Given the description of an element on the screen output the (x, y) to click on. 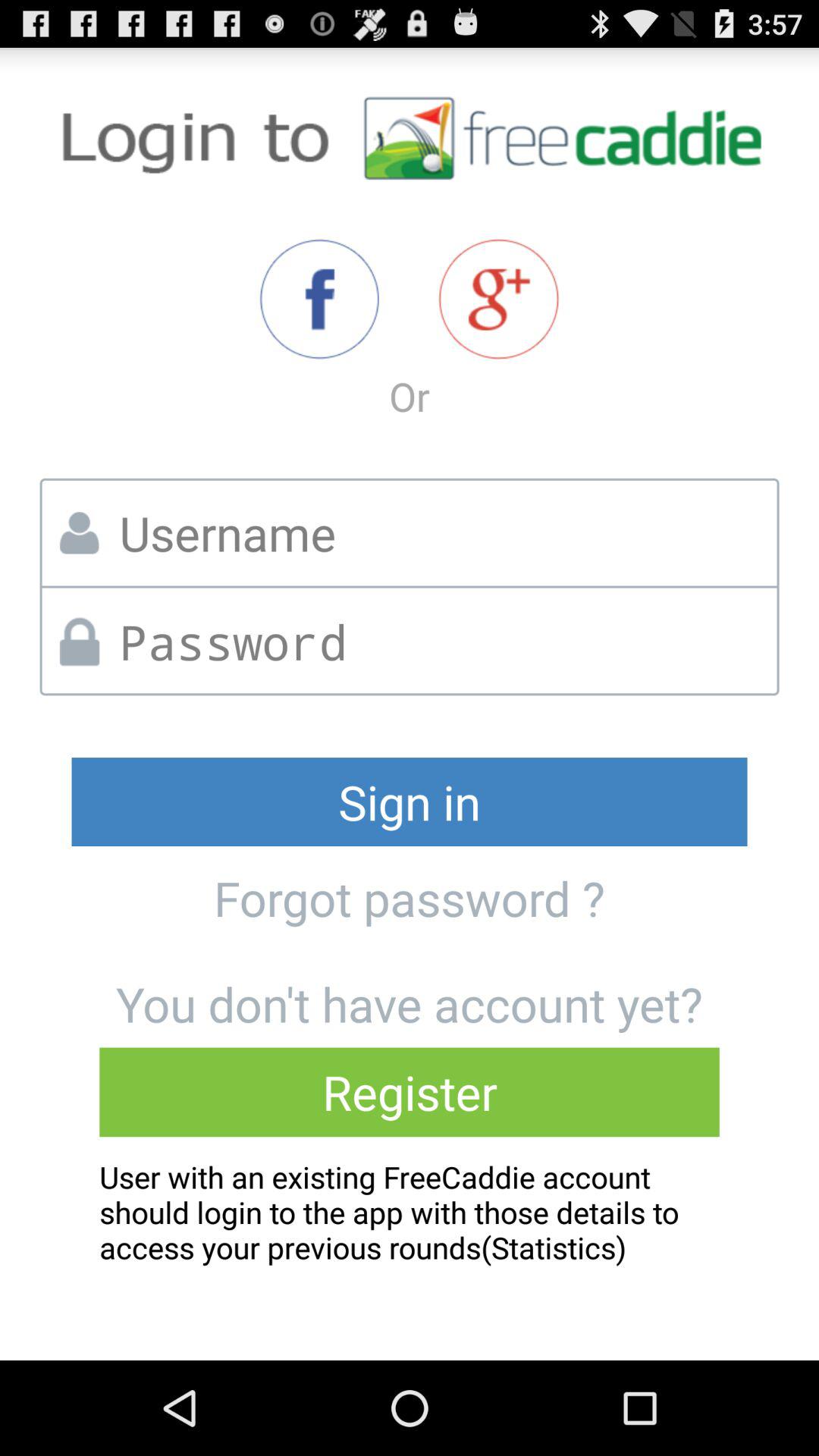
tap the register item (409, 1091)
